Given the description of an element on the screen output the (x, y) to click on. 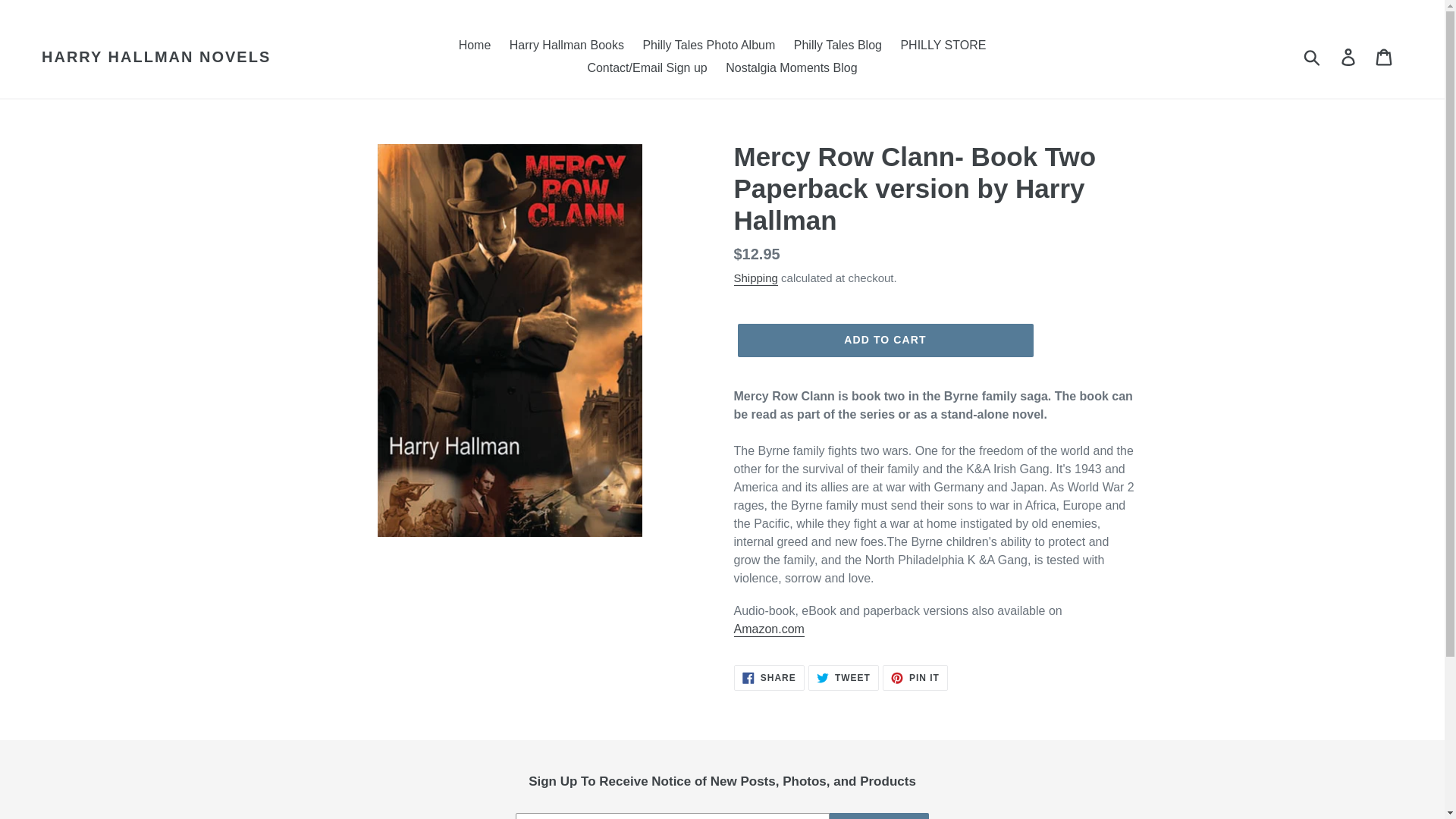
Log in (1349, 56)
Nostalgia Moments Blog (790, 67)
PHILLY STORE (843, 678)
Shipping (942, 45)
Harry Hallman Books (769, 678)
Philly Tales Photo Album (755, 278)
Submit (566, 45)
Home (708, 45)
SUBSCRIBE (1313, 56)
Amazon.com (475, 45)
ADD TO CART (878, 816)
Philly Tales Blog (769, 629)
